Given the description of an element on the screen output the (x, y) to click on. 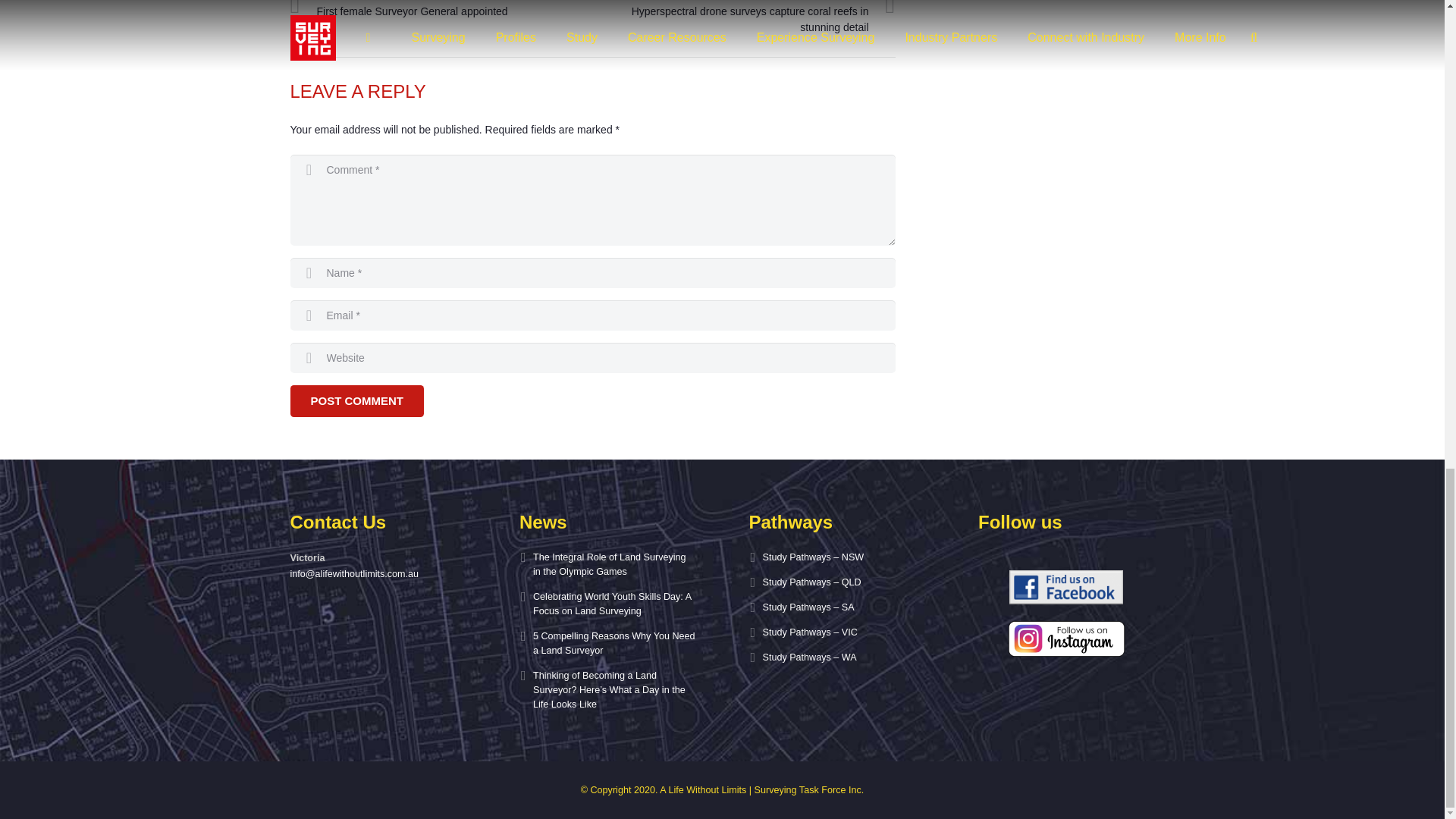
Post Comment (356, 400)
